Given the description of an element on the screen output the (x, y) to click on. 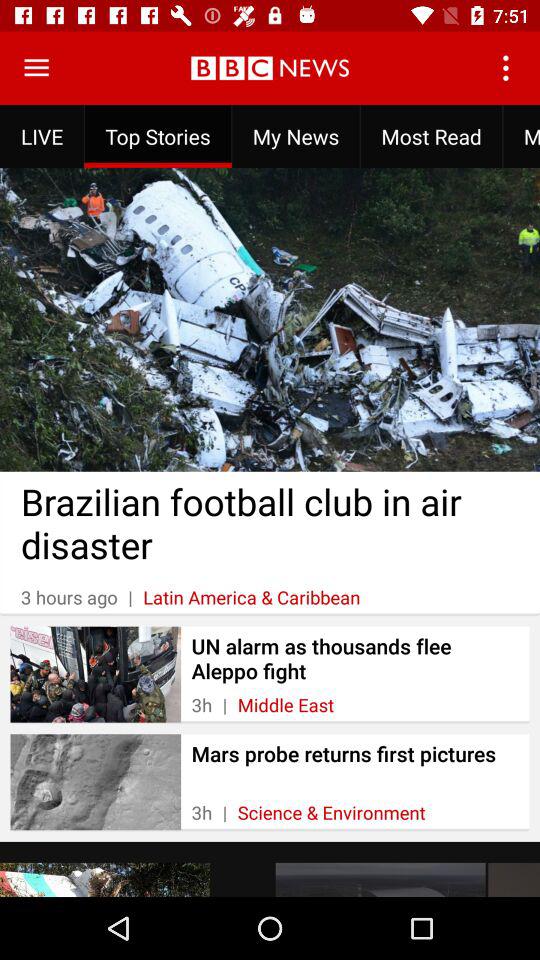
turn on the item to the right of the | icon (285, 704)
